Given the description of an element on the screen output the (x, y) to click on. 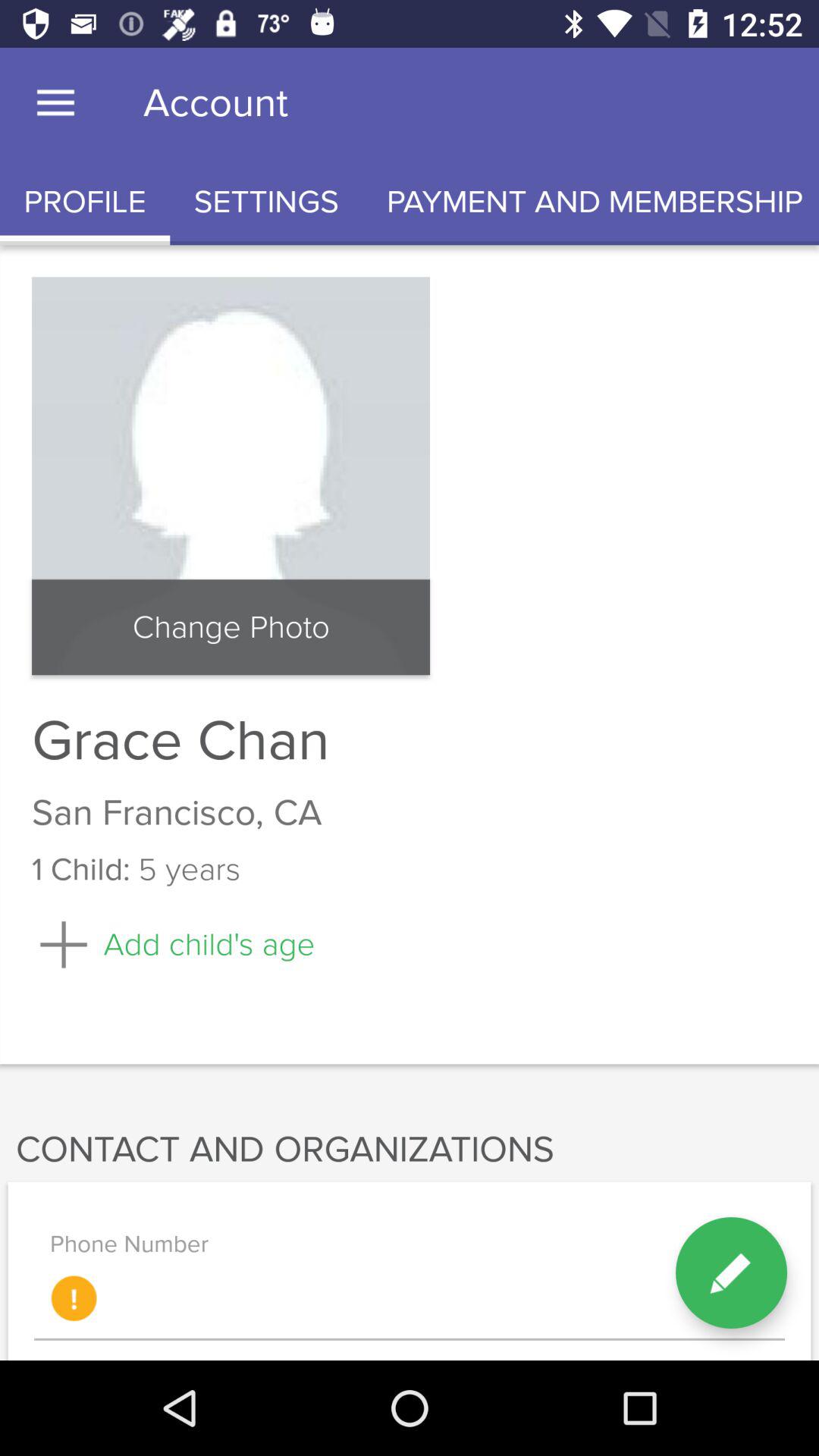
jump until the change photo icon (230, 627)
